Given the description of an element on the screen output the (x, y) to click on. 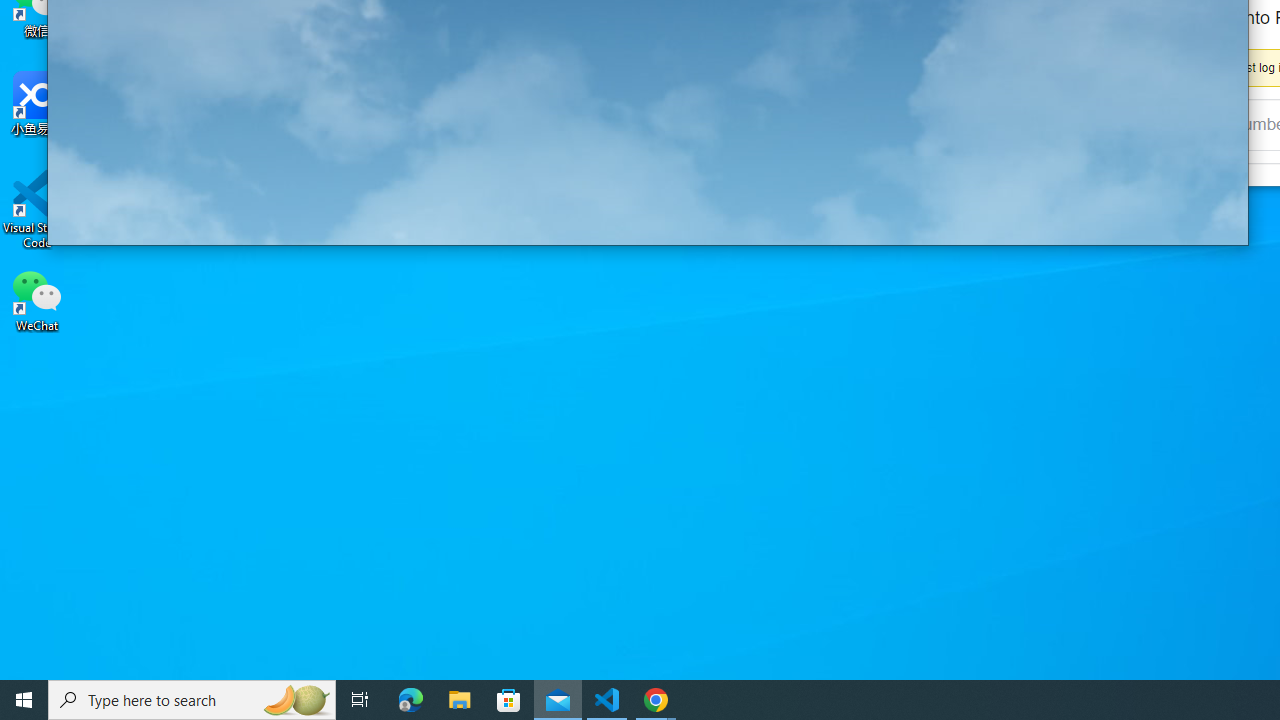
Visual Studio Code - 1 running window (607, 699)
Microsoft Edge (411, 699)
Switch to calendar (119, 220)
Google Chrome - 2 running windows (656, 699)
Get the free Outlook app on your phone (178, 170)
Switch to To Do (216, 220)
Type here to search (191, 699)
Microsoft Store (509, 699)
Task View (359, 699)
Start (24, 699)
Search highlights icon opens search home window (295, 699)
File Explorer (460, 699)
Switch to People (167, 220)
